Given the description of an element on the screen output the (x, y) to click on. 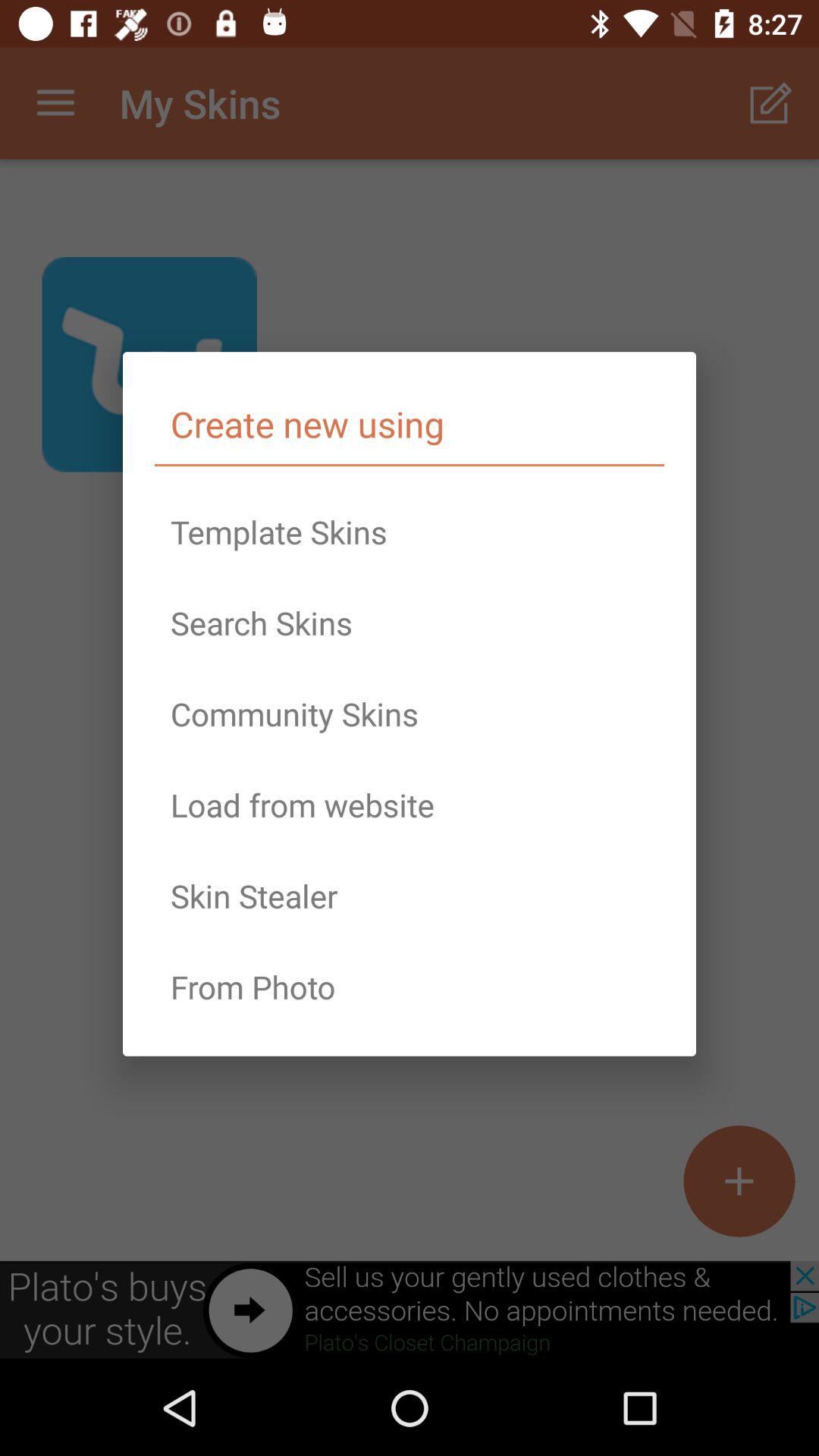
open item below search skins icon (409, 713)
